Given the description of an element on the screen output the (x, y) to click on. 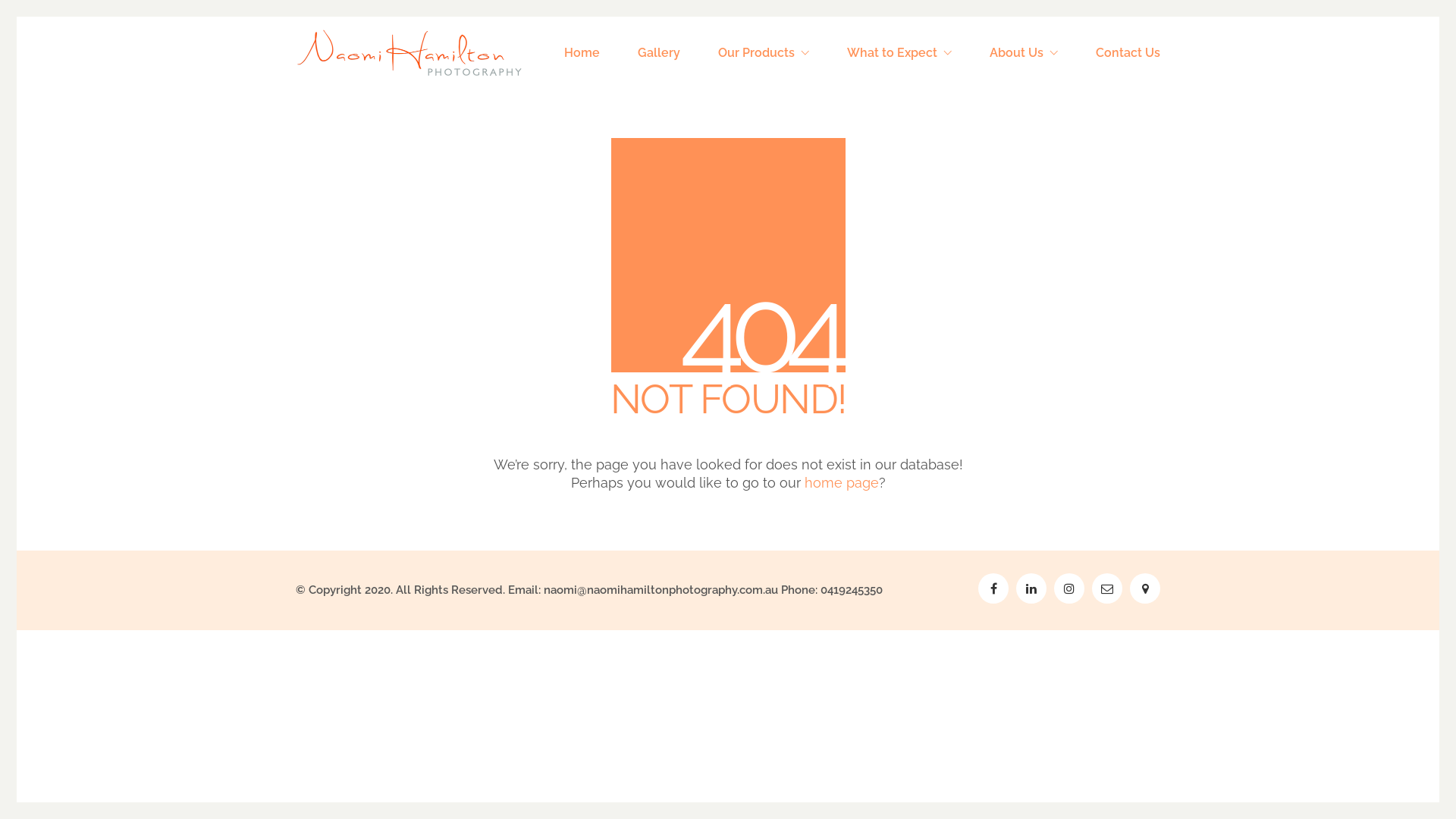
What to Expect Element type: text (899, 52)
Our Products Element type: text (763, 52)
Facebook Element type: hover (993, 588)
Instagram Element type: hover (1069, 588)
Home Element type: text (581, 52)
Google Maps Element type: hover (1144, 588)
Email Element type: hover (1107, 588)
Gallery Element type: text (658, 52)
home page Element type: text (840, 482)
About Us Element type: text (1023, 52)
LinkedIn Element type: hover (1031, 588)
Contact Us Element type: text (1127, 52)
